Given the description of an element on the screen output the (x, y) to click on. 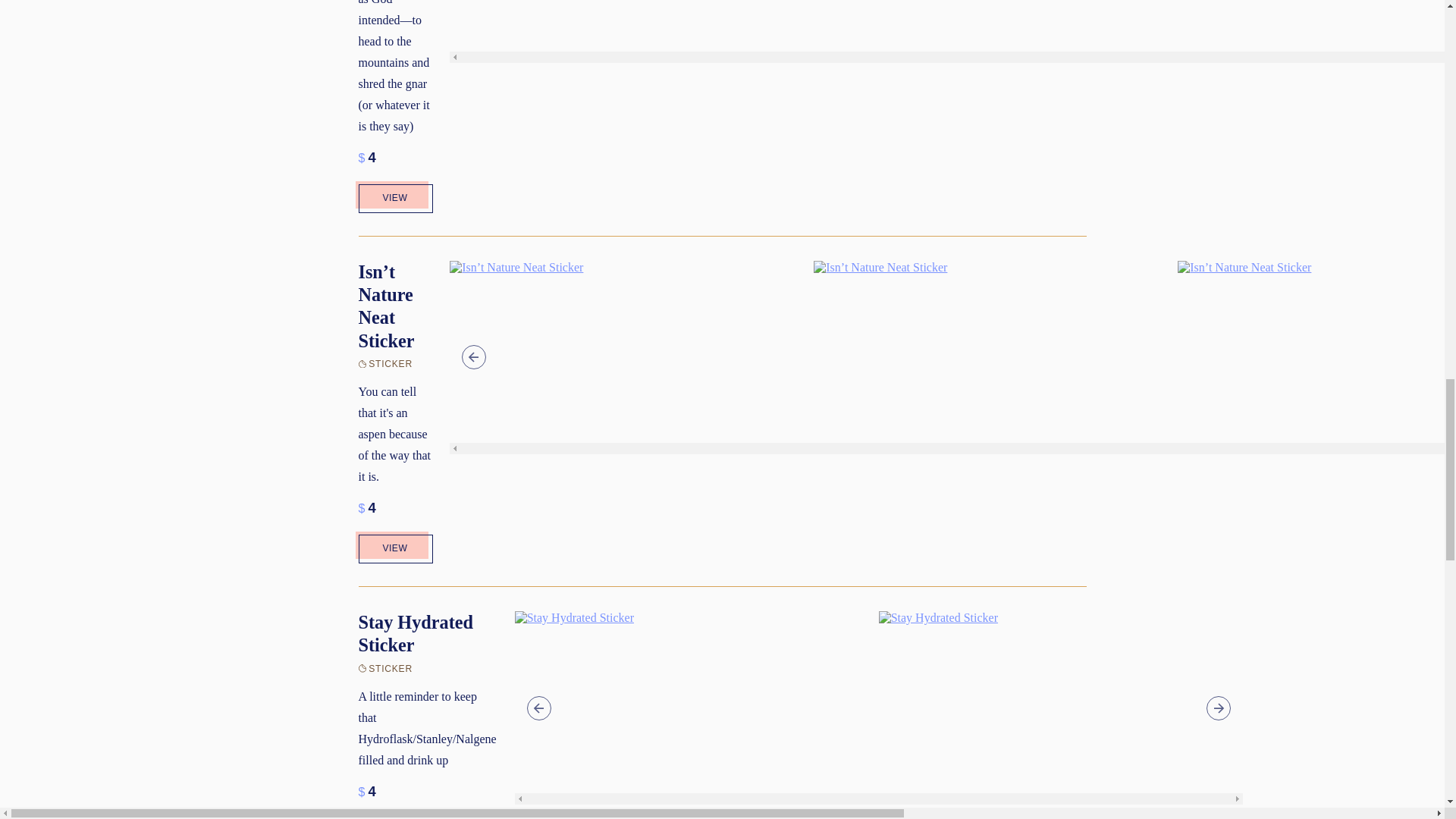
VIEW (394, 196)
